Given the description of an element on the screen output the (x, y) to click on. 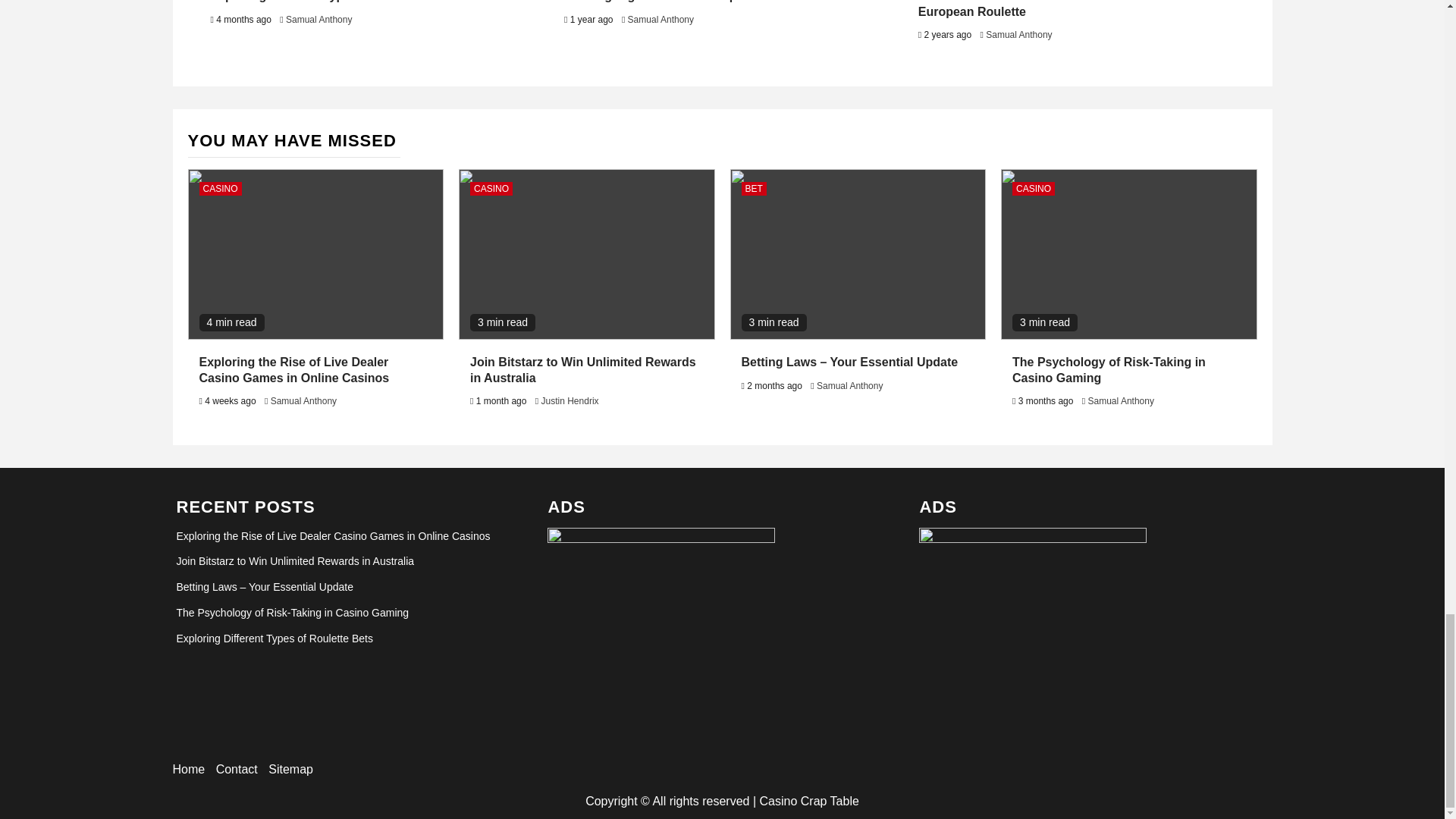
Samual Anthony (1018, 34)
What You Should Know About American and European Roulette (1046, 9)
Samual Anthony (303, 400)
Join Bitstarz to Win Unlimited Rewards in Australia (582, 369)
Samual Anthony (318, 19)
CASINO (219, 188)
CASINO (491, 188)
Samual Anthony (660, 19)
